Given the description of an element on the screen output the (x, y) to click on. 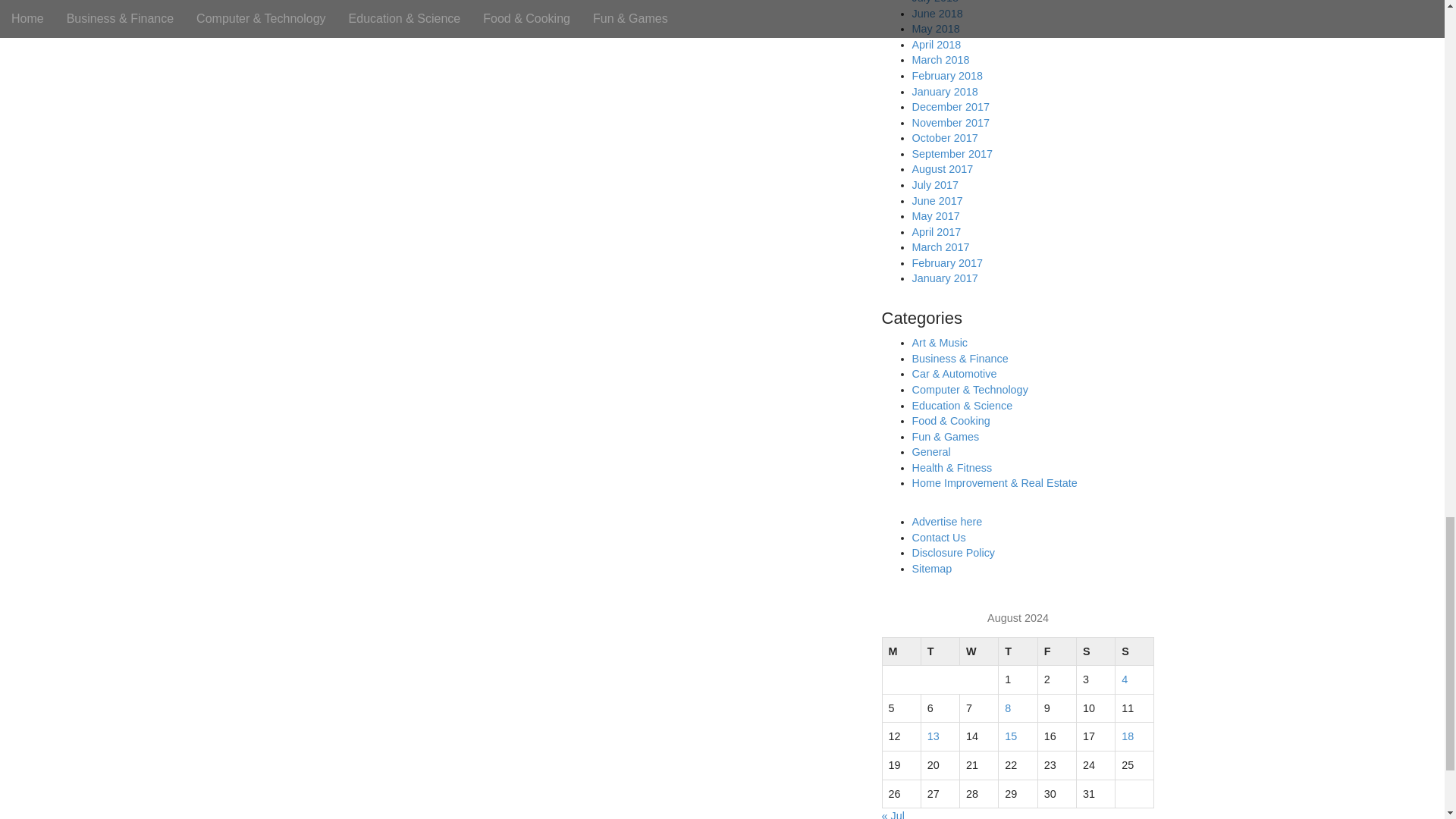
Sunday (1134, 651)
Thursday (1017, 651)
Friday (1055, 651)
Wednesday (978, 651)
Saturday (1095, 651)
Tuesday (939, 651)
Monday (901, 651)
